Given the description of an element on the screen output the (x, y) to click on. 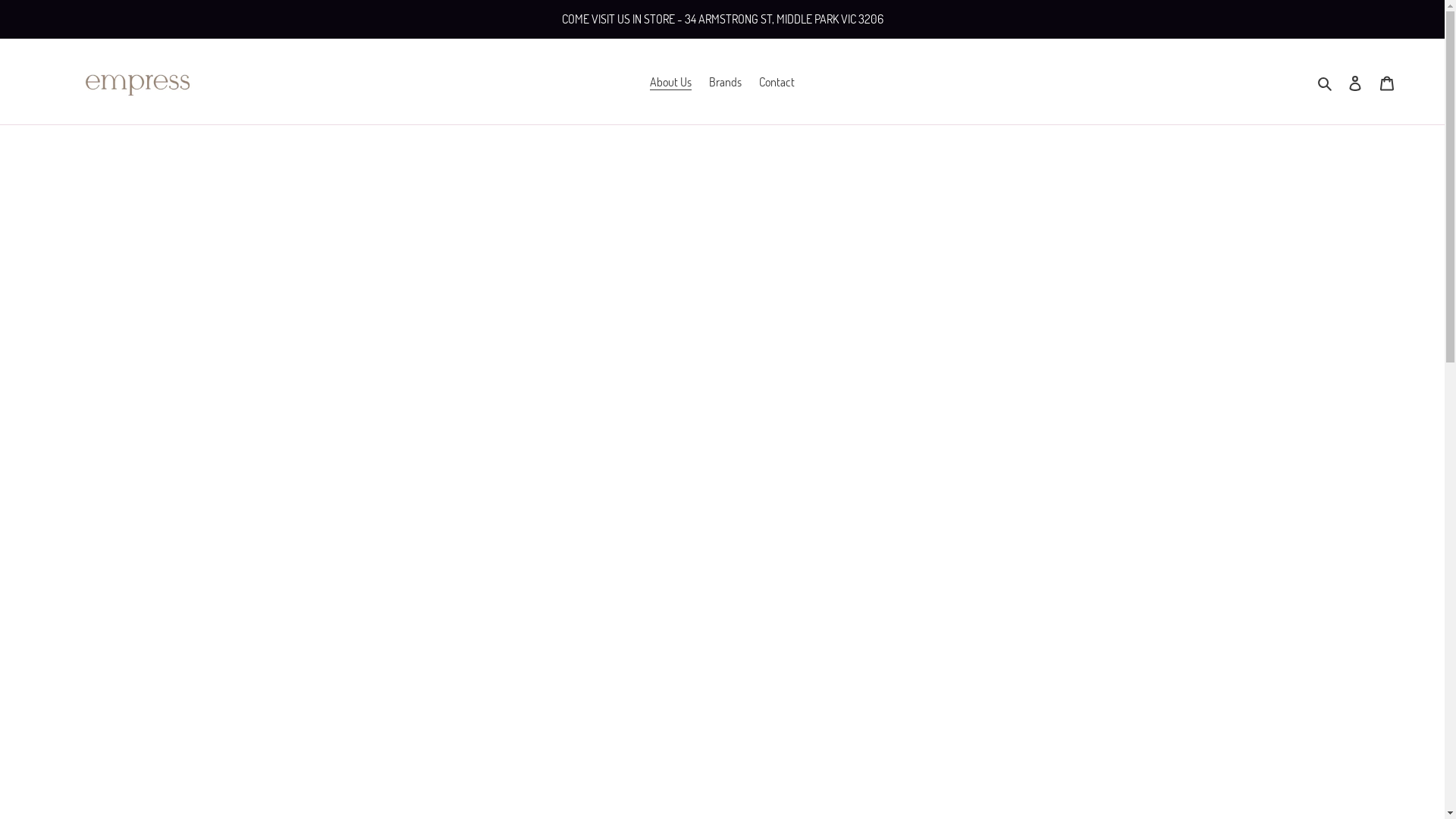
About Us Element type: text (670, 81)
Cart Element type: text (1386, 81)
Contact Element type: text (776, 81)
Log in Element type: text (1355, 81)
Search Element type: text (1325, 81)
Brands Element type: text (725, 81)
